Given the description of an element on the screen output the (x, y) to click on. 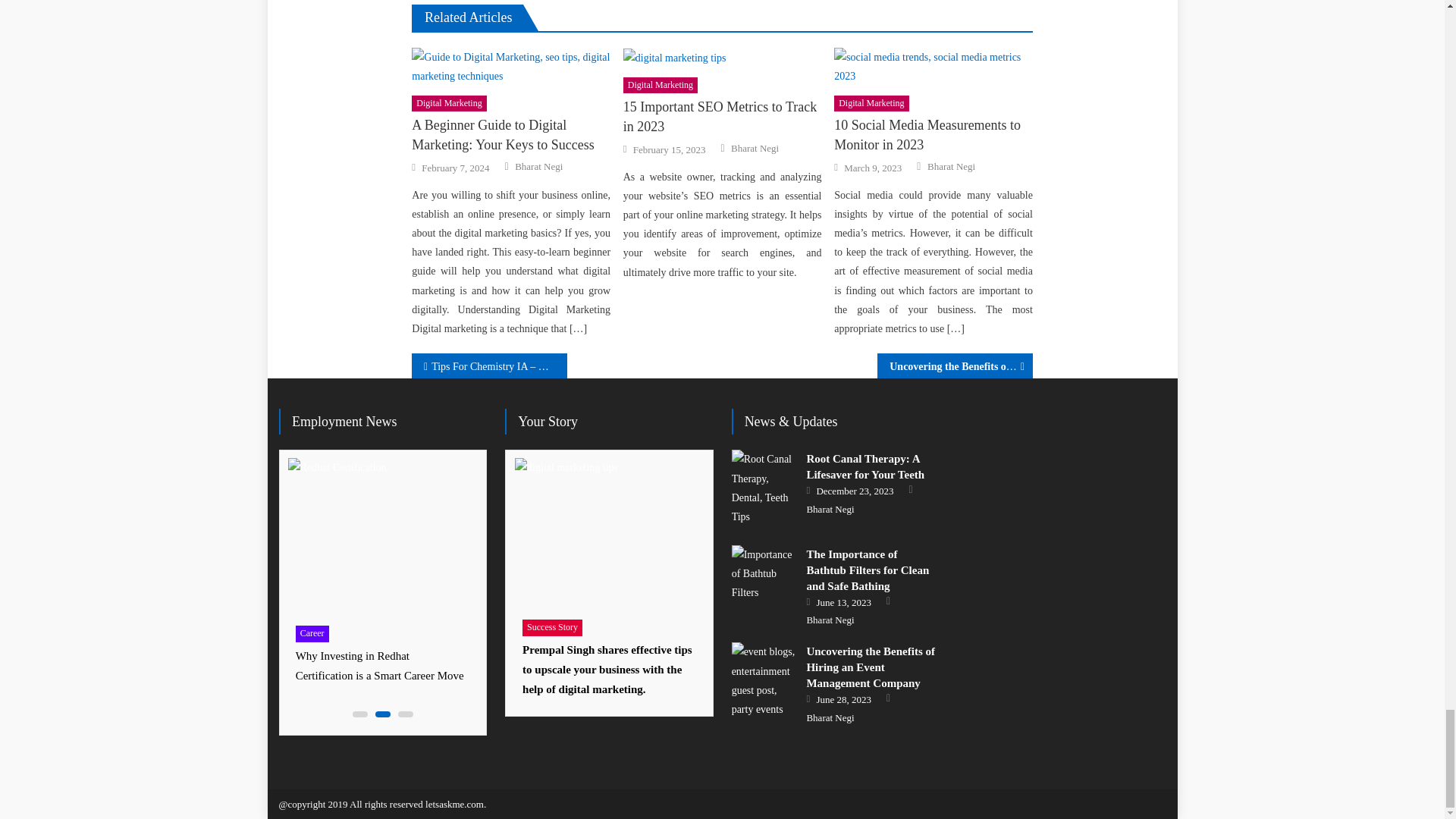
February 15, 2023 (669, 150)
15 Important SEO Metrics to Track in 2023 (722, 116)
A Beginner Guide to Digital Marketing: Your Keys to Success (511, 66)
Bharat Negi (538, 166)
10 Social Media Measurements to Monitor in 2023 (933, 66)
February 7, 2024 (455, 168)
15 Important SEO Metrics to Track in 2023 (722, 57)
Why Investing in Redhat Certification is a Smart Career Move (382, 536)
Digital Marketing (660, 85)
Digital Marketing (449, 103)
A Beginner Guide to Digital Marketing: Your Keys to Success (511, 134)
